Given the description of an element on the screen output the (x, y) to click on. 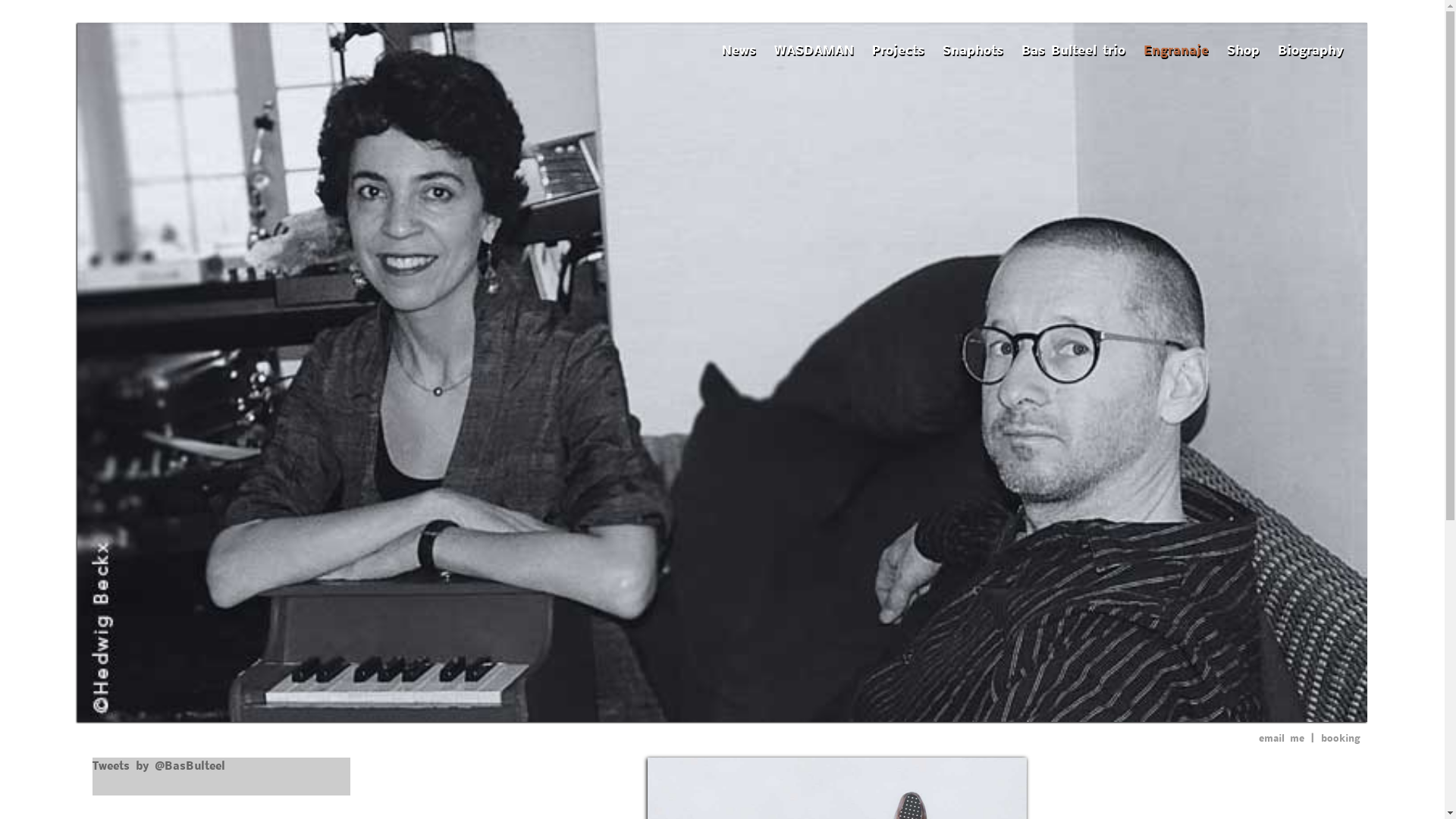
Shop Element type: text (1242, 49)
News Element type: text (738, 49)
email me Element type: text (1281, 737)
Engranaje Element type: text (1175, 49)
Biography Element type: text (1310, 49)
booking Element type: text (1340, 737)
Projects Element type: text (897, 49)
Tweets by @BasBulteel Element type: text (158, 764)
WASDAMAN Element type: text (813, 49)
Bas Bulteel trio Element type: text (1073, 49)
Snaphots Element type: text (972, 49)
